Given the description of an element on the screen output the (x, y) to click on. 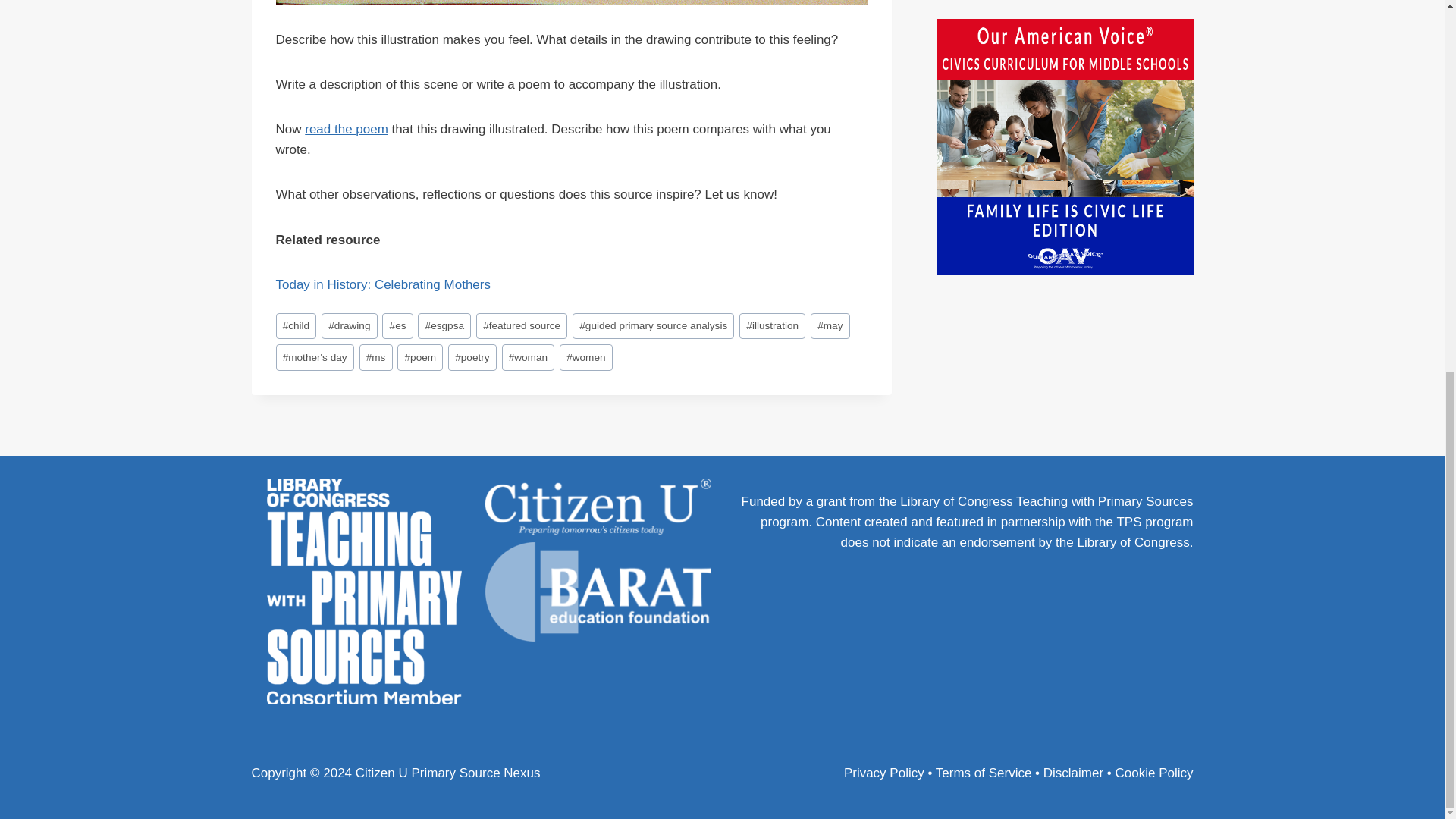
child (296, 325)
esgpsa (443, 325)
es (396, 325)
poetry (472, 357)
illustration (772, 325)
guided primary source analysis (652, 325)
Today in History: Celebrating Mothers (383, 284)
may (830, 325)
mother's day (314, 357)
featured source (521, 325)
